Given the description of an element on the screen output the (x, y) to click on. 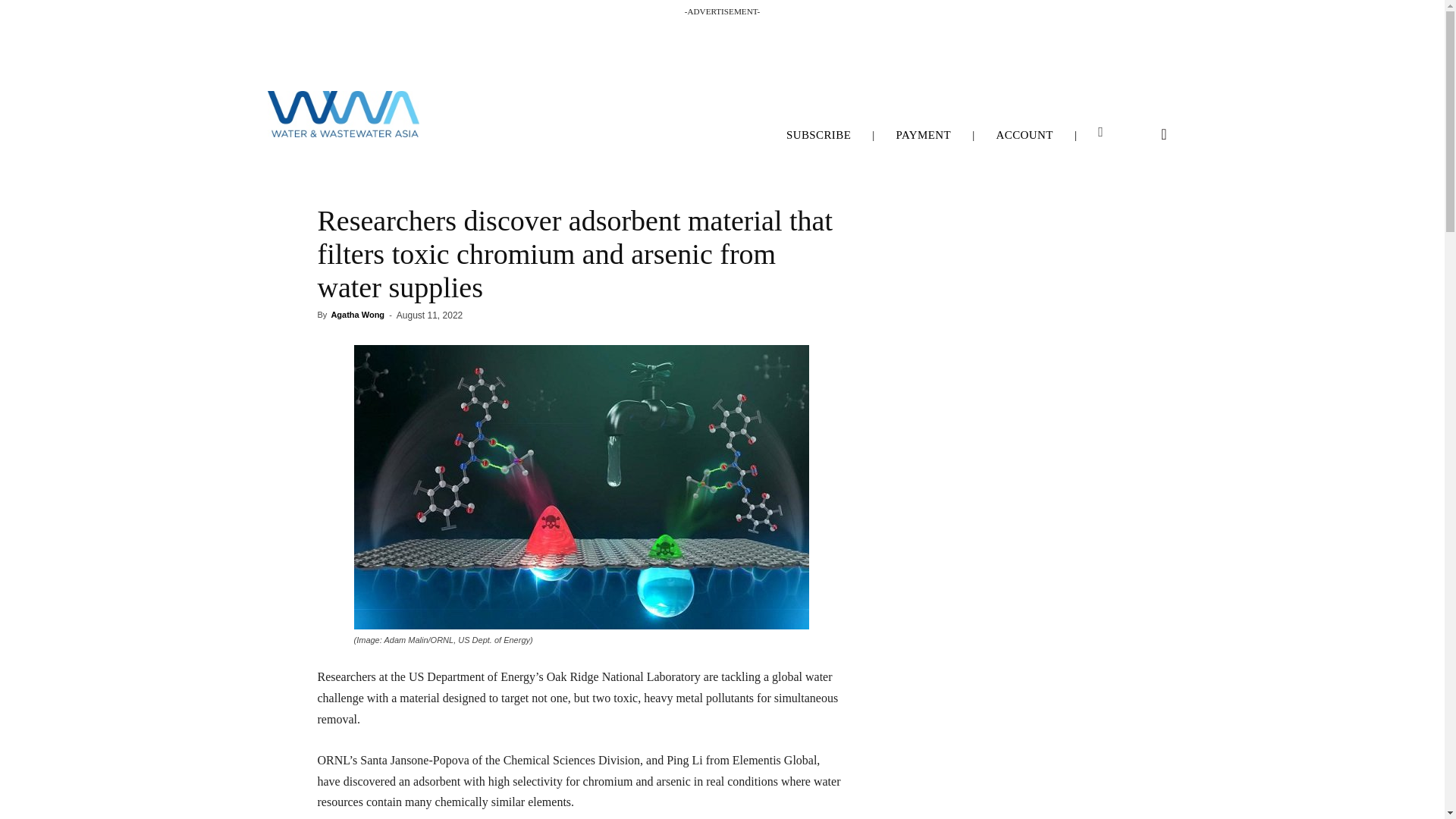
My Cart (1100, 131)
ACCOUNT (1024, 134)
PAYMENT (923, 134)
SUBSCRIBE (818, 134)
